Given the description of an element on the screen output the (x, y) to click on. 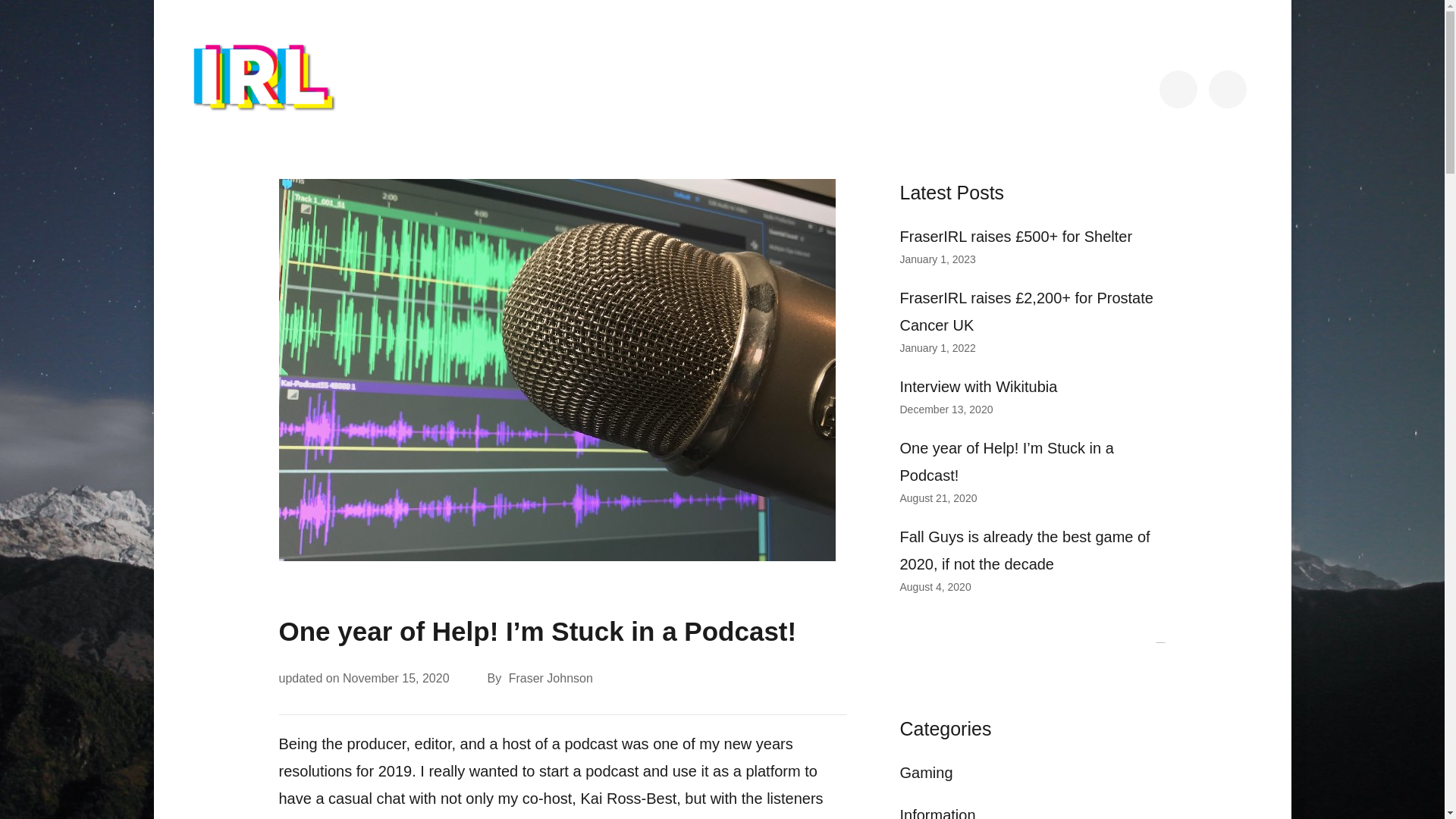
November 15, 2020 (395, 677)
Interview with Wikitubia (978, 386)
Gaming (925, 772)
Fraser Johnson (548, 679)
Information (937, 812)
FRASERIRL (254, 138)
